Given the description of an element on the screen output the (x, y) to click on. 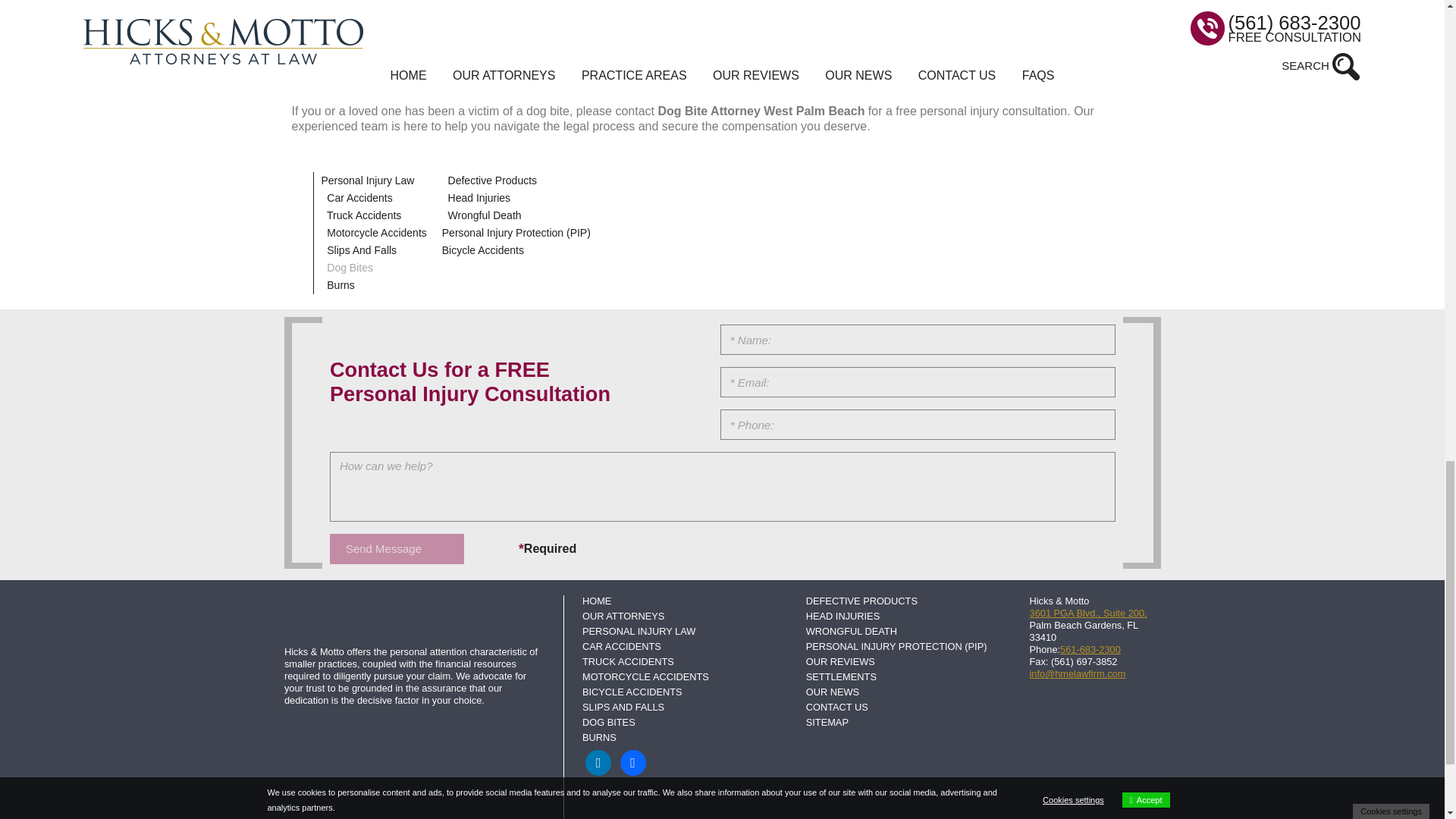
Slips And Falls (361, 250)
Car Accidents (358, 197)
Truck Accidents (363, 215)
Defective Products (492, 180)
Head Injuries (479, 197)
Wrongful Death (484, 215)
Send Message (397, 548)
Burns (340, 285)
Motorcycle Accidents (376, 232)
Personal Injury Law (367, 180)
Dog Bites (349, 267)
